Given the description of an element on the screen output the (x, y) to click on. 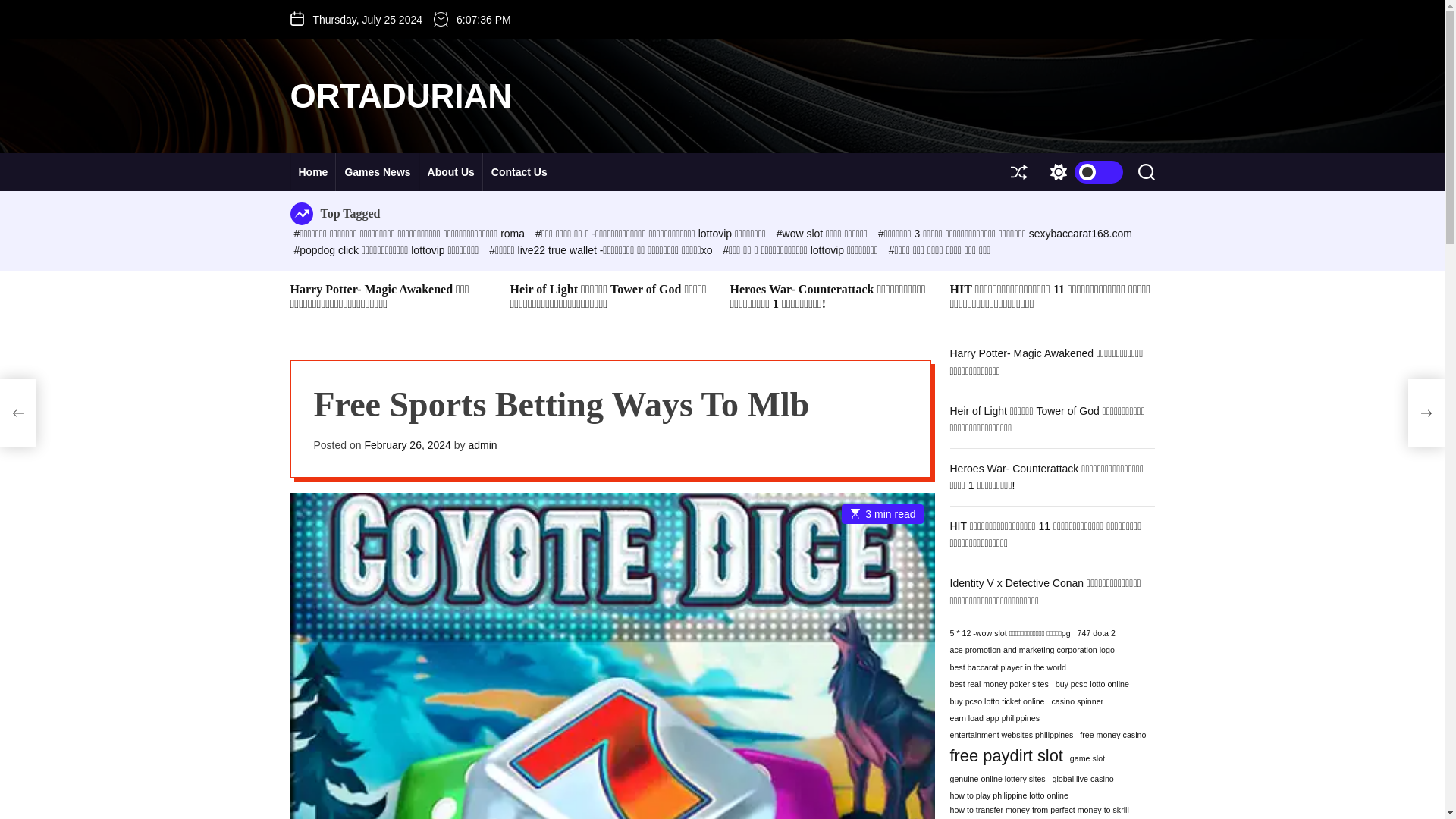
Switch color mode (1082, 171)
Home (312, 171)
February 26, 2024 (406, 444)
Games News (377, 171)
admin (481, 444)
About Us (451, 171)
ORTADURIAN (400, 96)
Contact Us (518, 171)
